Given the description of an element on the screen output the (x, y) to click on. 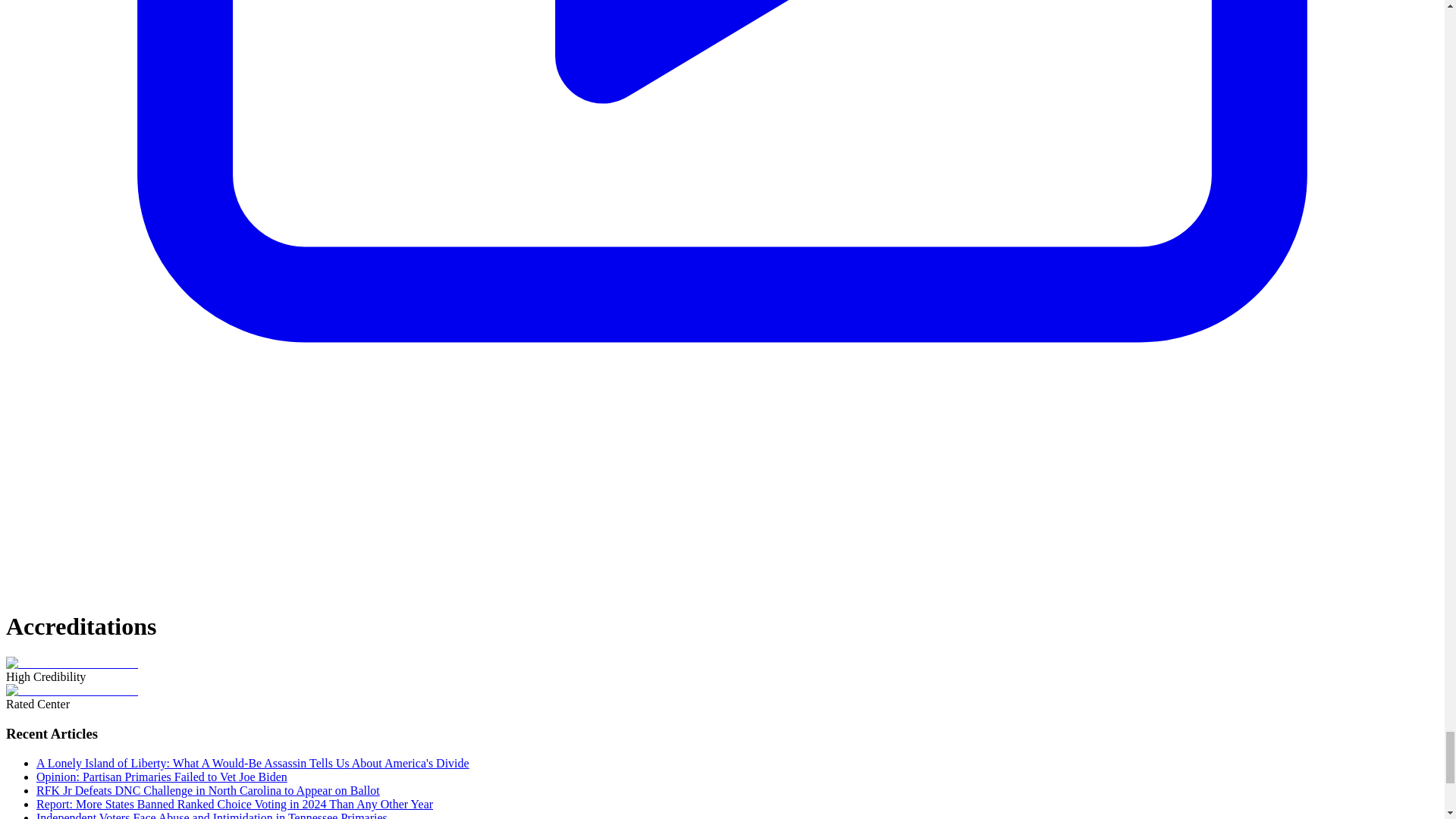
Opinion: Partisan Primaries Failed to Vet Joe Biden (161, 776)
